Given the description of an element on the screen output the (x, y) to click on. 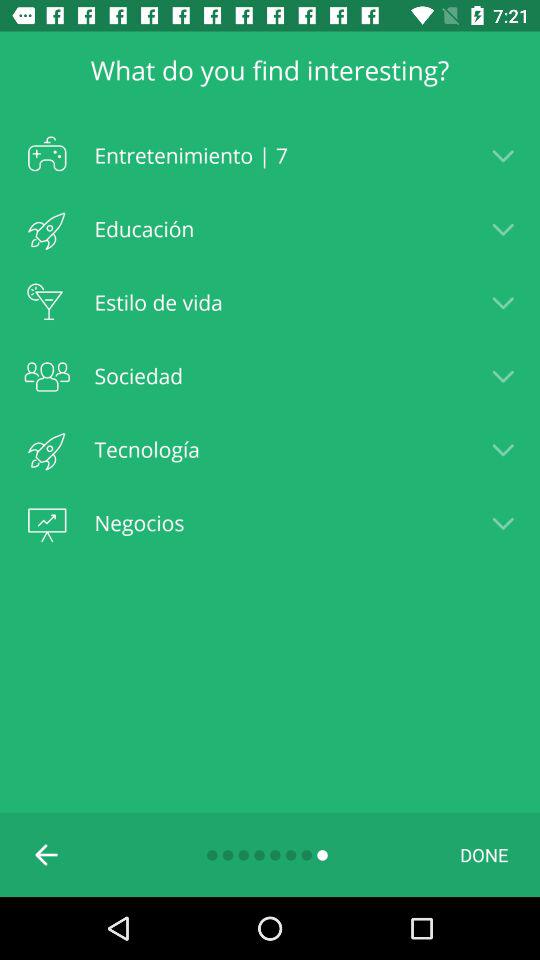
press item to the left of done icon (47, 854)
